Given the description of an element on the screen output the (x, y) to click on. 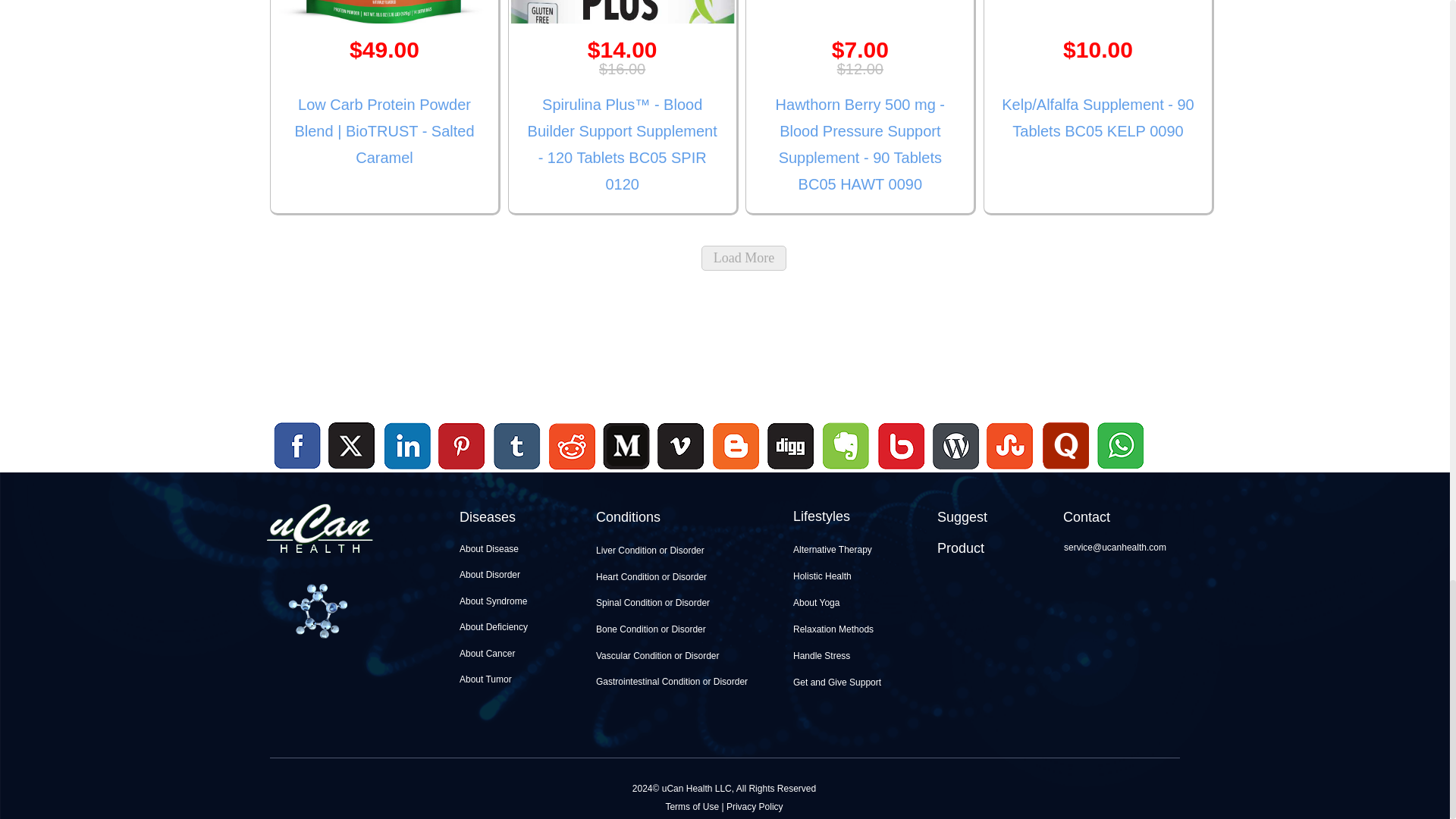
Facebook (297, 446)
Evernote (846, 446)
Quora (1065, 471)
Bebo (900, 471)
WhatsApp (1118, 471)
Worldpress (955, 471)
Vimeo (682, 446)
Pinterest (462, 446)
Tumblr (517, 446)
Digg (790, 471)
